Given the description of an element on the screen output the (x, y) to click on. 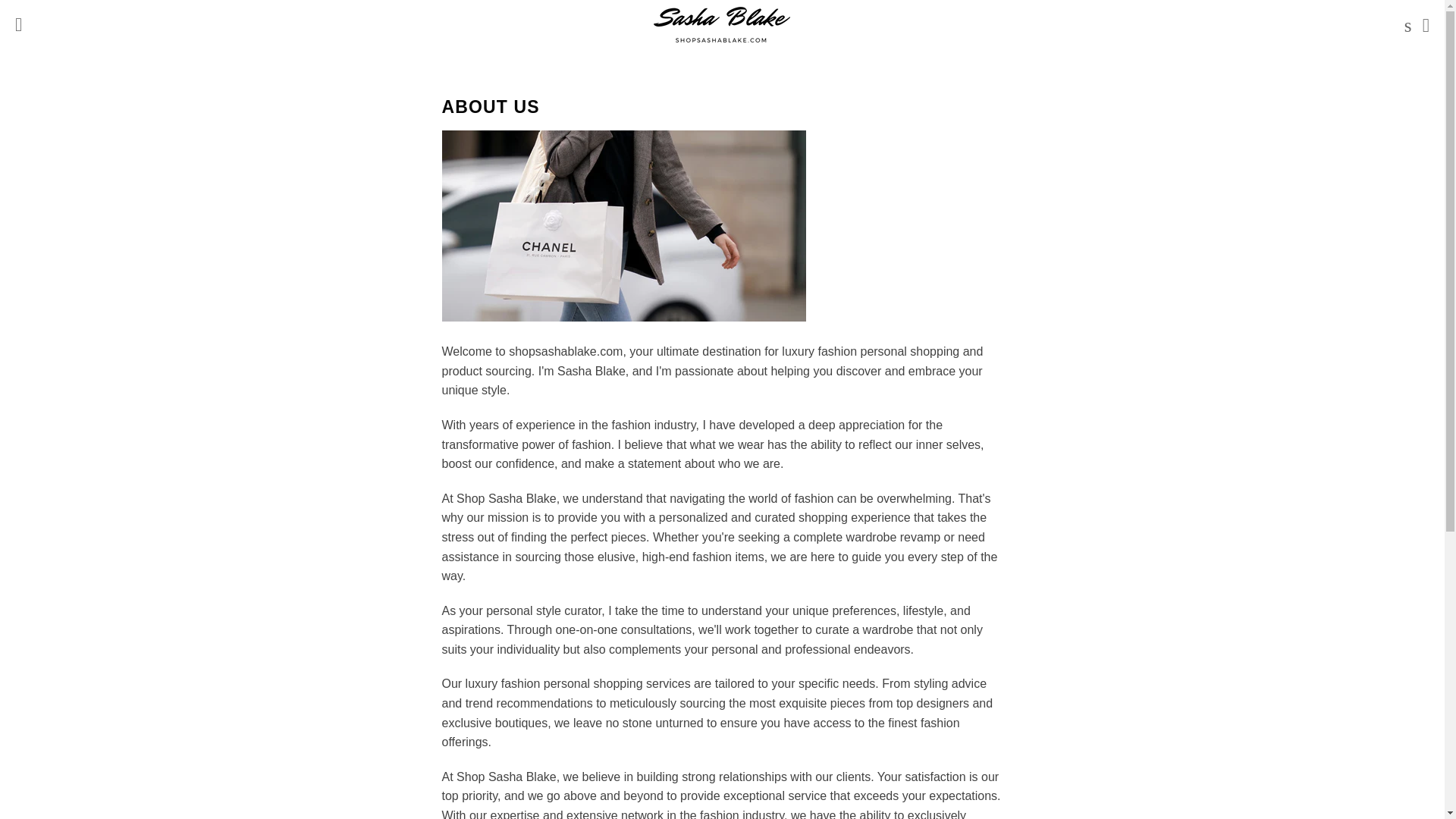
Search (1404, 23)
Cart (1426, 23)
Menu (18, 24)
